Given the description of an element on the screen output the (x, y) to click on. 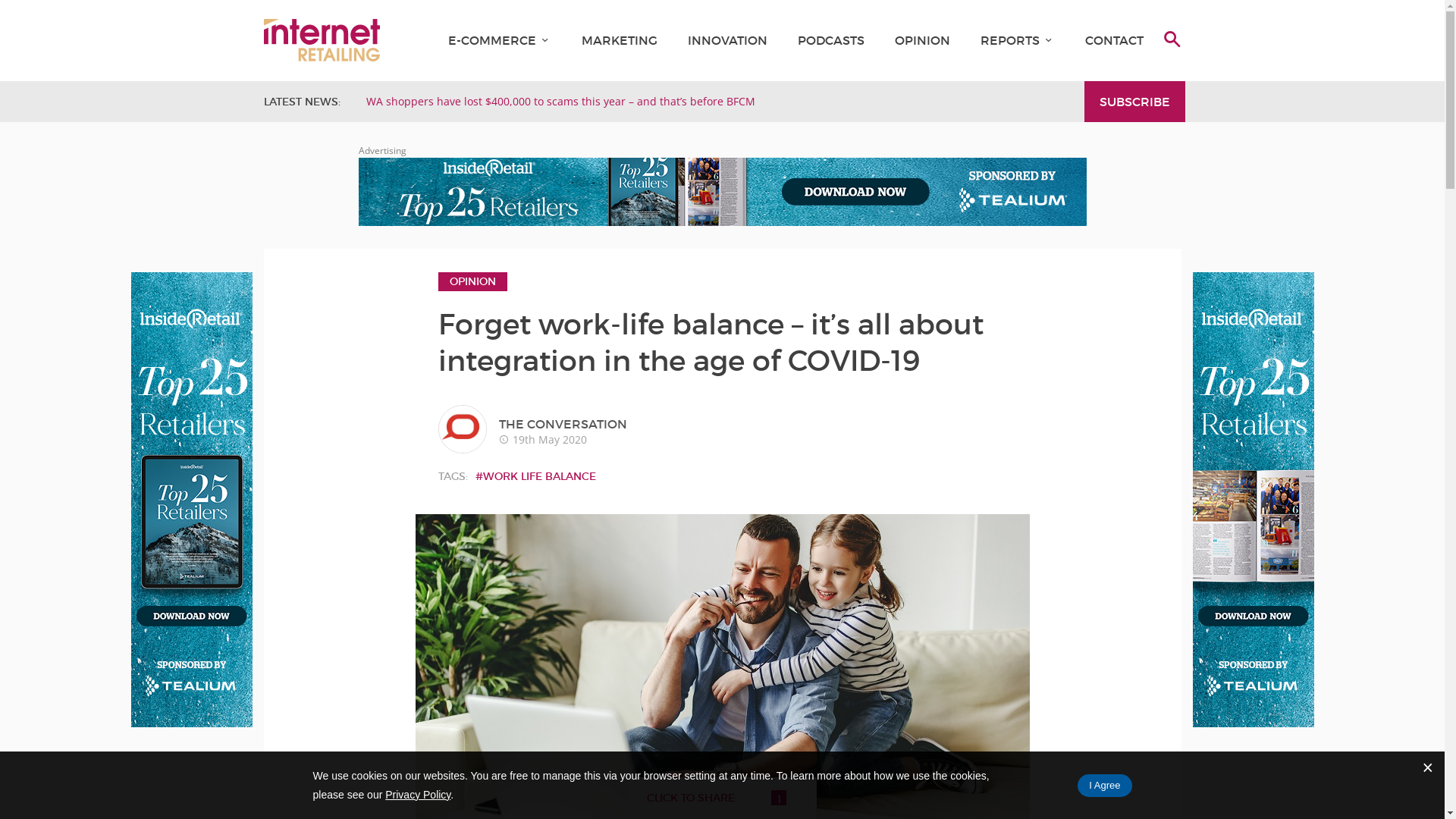
INNOVATION Element type: text (726, 39)
E-COMMERCE Element type: text (491, 39)
3rd party ad content Element type: hover (190, 499)
MARKETING Element type: text (618, 39)
REPORTS Element type: text (1008, 39)
#WORK LIFE BALANCE Element type: text (534, 475)
PODCASTS Element type: text (830, 39)
OPINION Element type: text (922, 39)
Search Element type: text (25, 10)
Privacy Policy Element type: text (417, 794)
SUBSCRIBE Element type: text (1134, 101)
THE CONVERSATION Element type: text (562, 423)
I Agree Element type: text (1104, 784)
3rd party ad content Element type: hover (721, 191)
CONTACT Element type: text (1113, 39)
OPINION Element type: text (472, 281)
3rd party ad content Element type: hover (1252, 499)
